Given the description of an element on the screen output the (x, y) to click on. 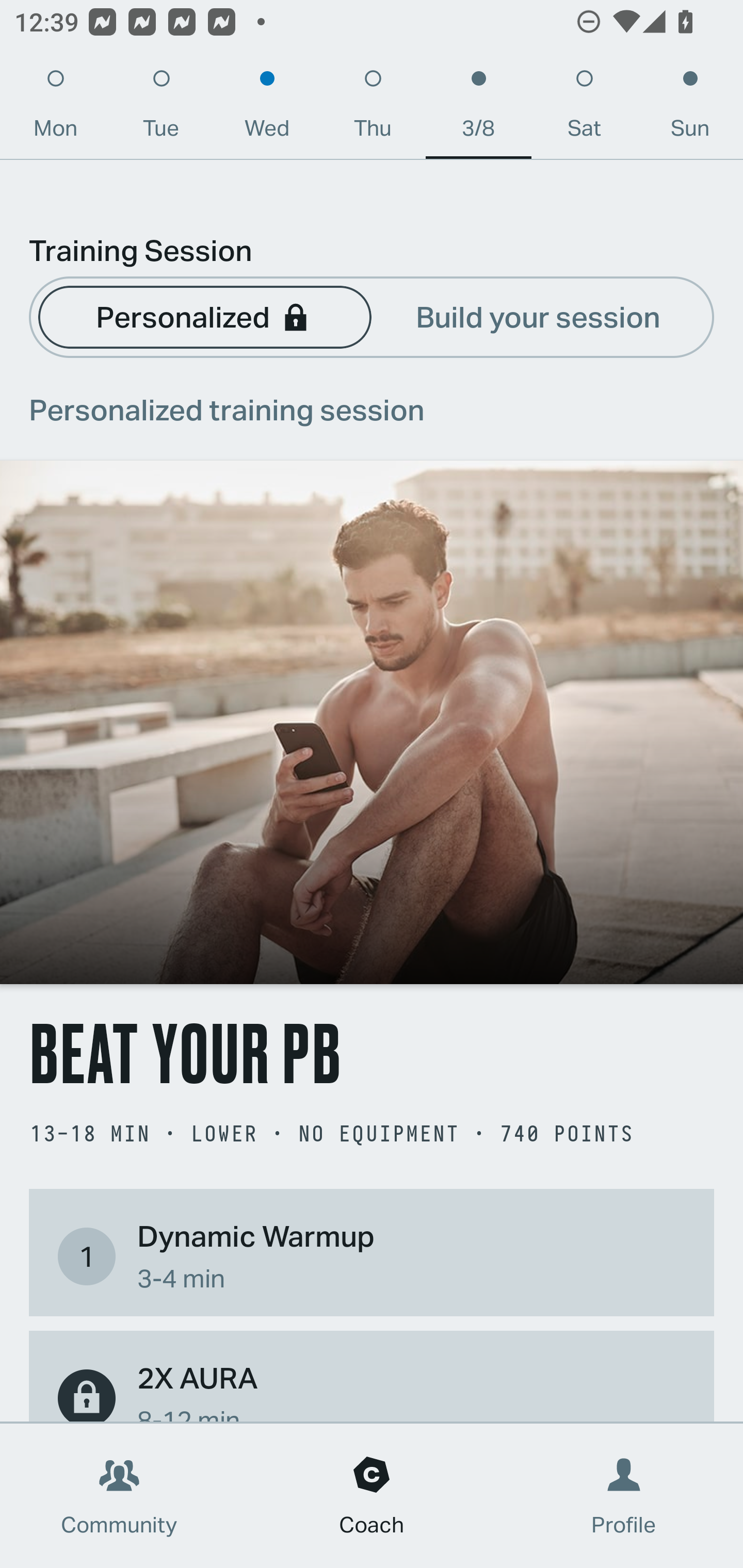
Mon (55, 108)
Tue (160, 108)
Wed (266, 108)
Thu (372, 108)
3/8 (478, 108)
Sat (584, 108)
Sun (690, 108)
Personalized (204, 315)
Build your session (538, 315)
1 Dynamic Warmup 3-4 min (371, 1256)
2X AURA 8-12 min (371, 1388)
Community (119, 1495)
Profile (624, 1495)
